Given the description of an element on the screen output the (x, y) to click on. 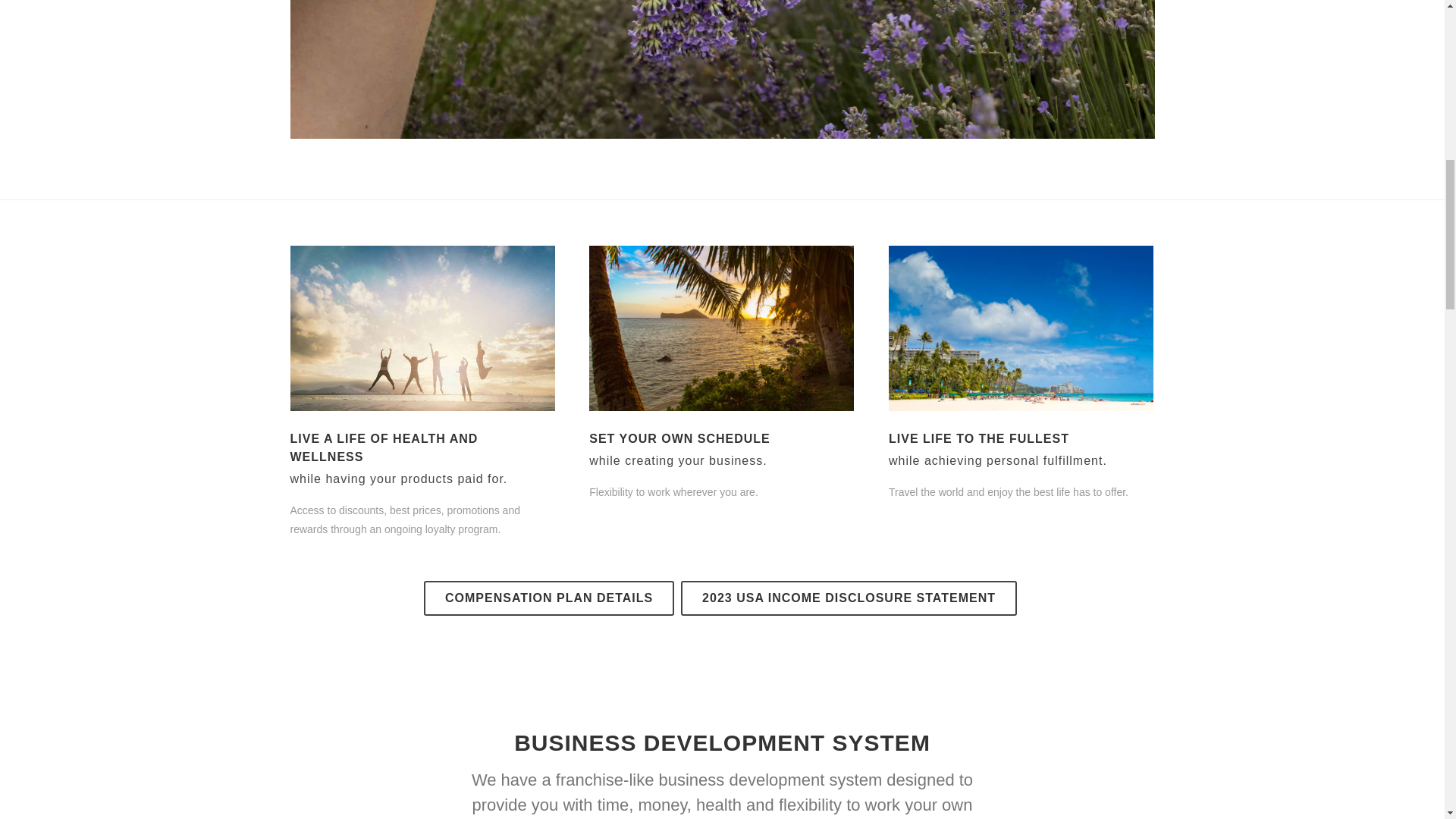
COMPENSATION PLAN DETAILS (548, 597)
2023 USA INCOME DISCLOSURE STATEMENT (848, 597)
